Given the description of an element on the screen output the (x, y) to click on. 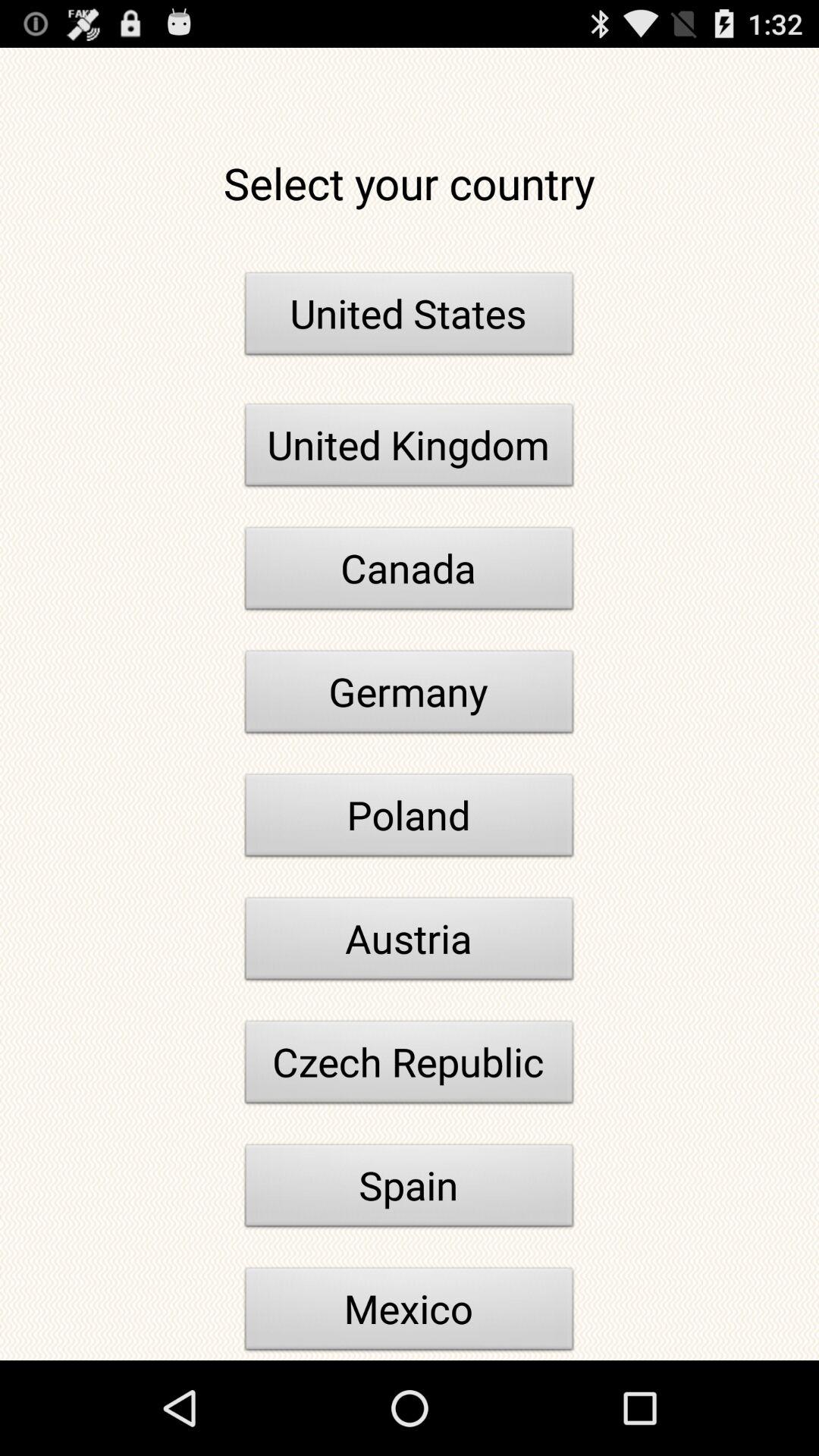
turn off item above mexico item (409, 1189)
